Given the description of an element on the screen output the (x, y) to click on. 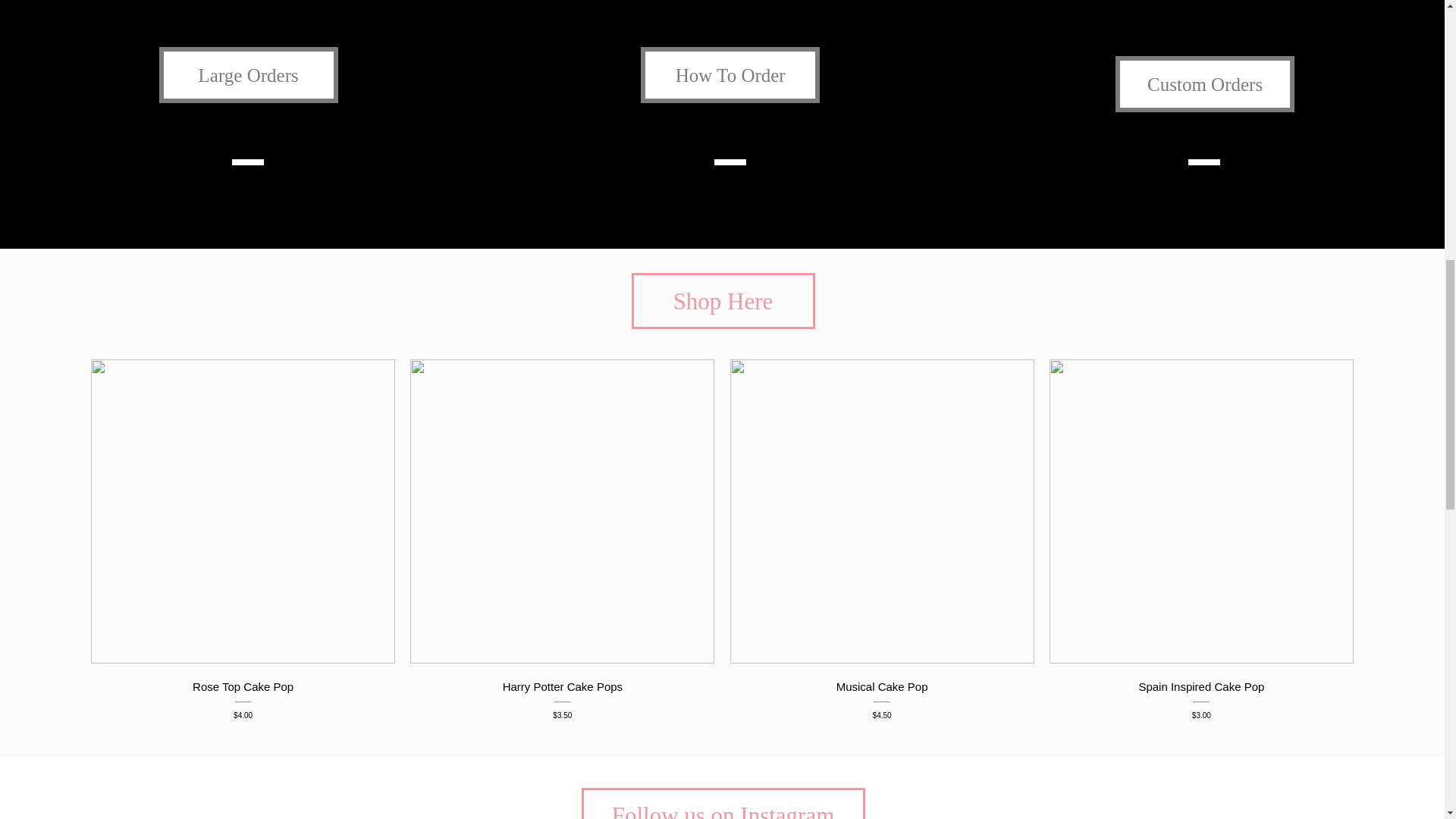
Shop Here (721, 300)
Custom Orders (1204, 84)
Large Orders (247, 74)
How To Order (729, 74)
